Given the description of an element on the screen output the (x, y) to click on. 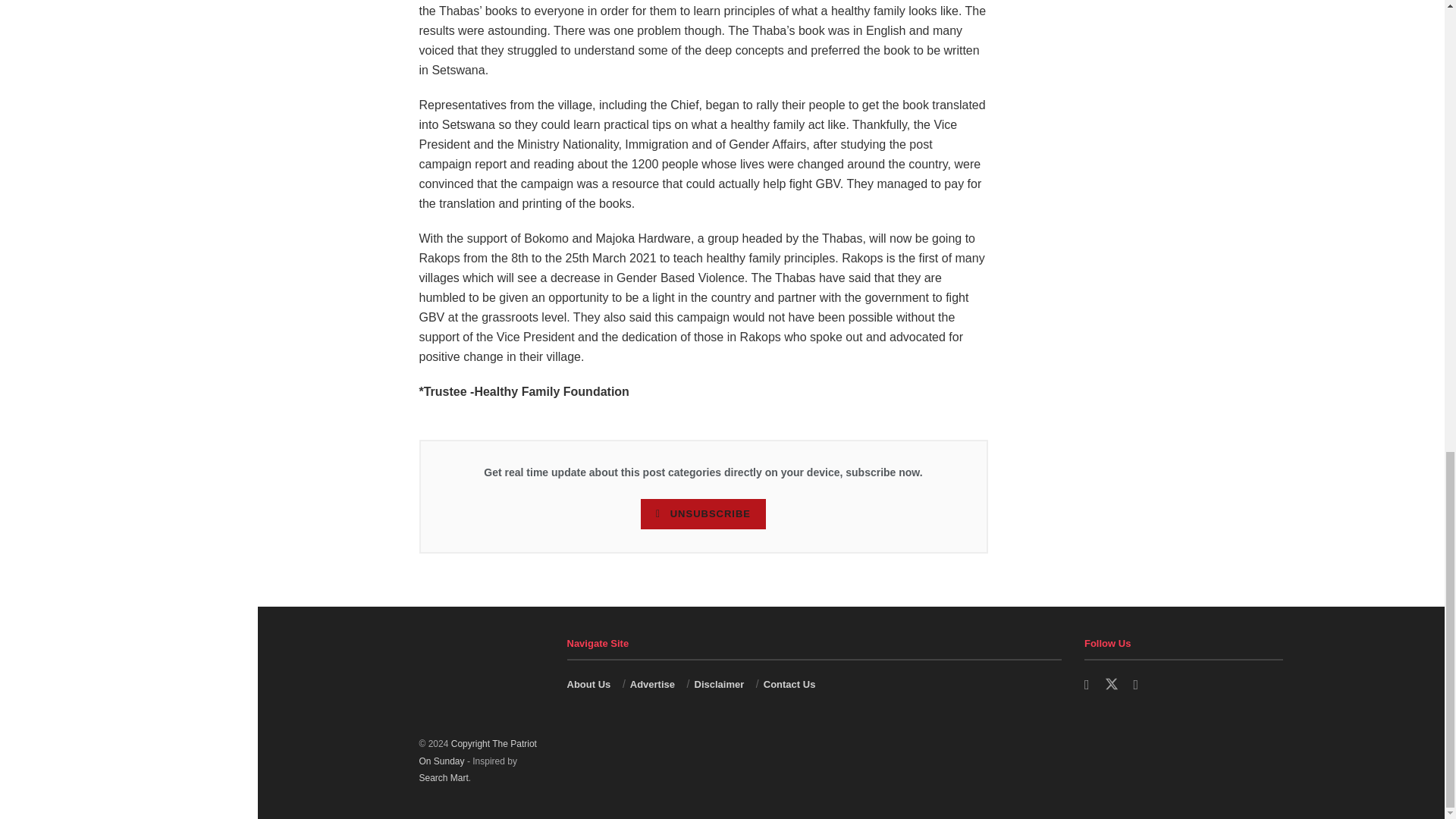
The Patriot Sunday News (477, 751)
Search Mart (443, 777)
